Given the description of an element on the screen output the (x, y) to click on. 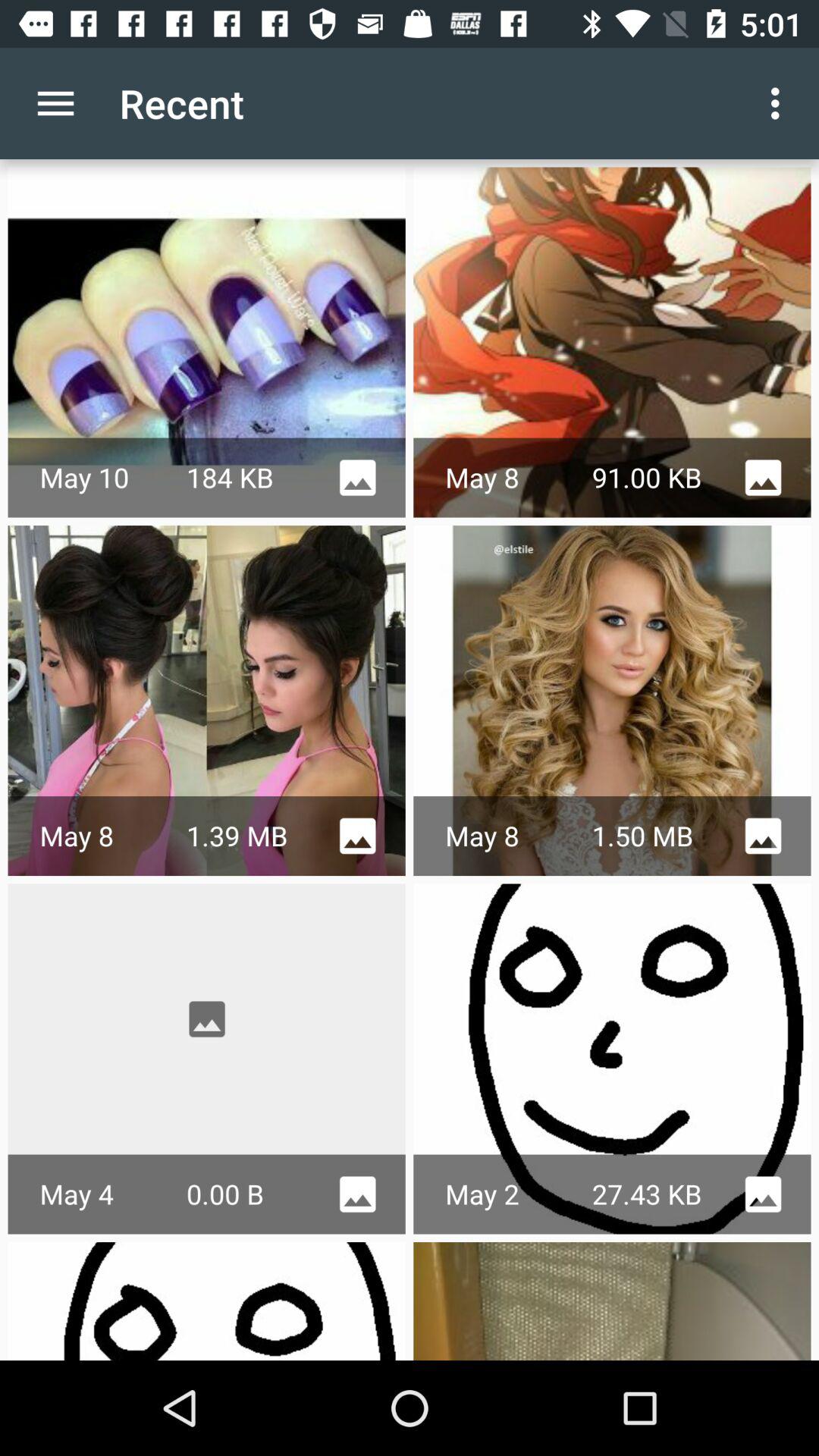
choose app to the right of recent item (779, 103)
